Given the description of an element on the screen output the (x, y) to click on. 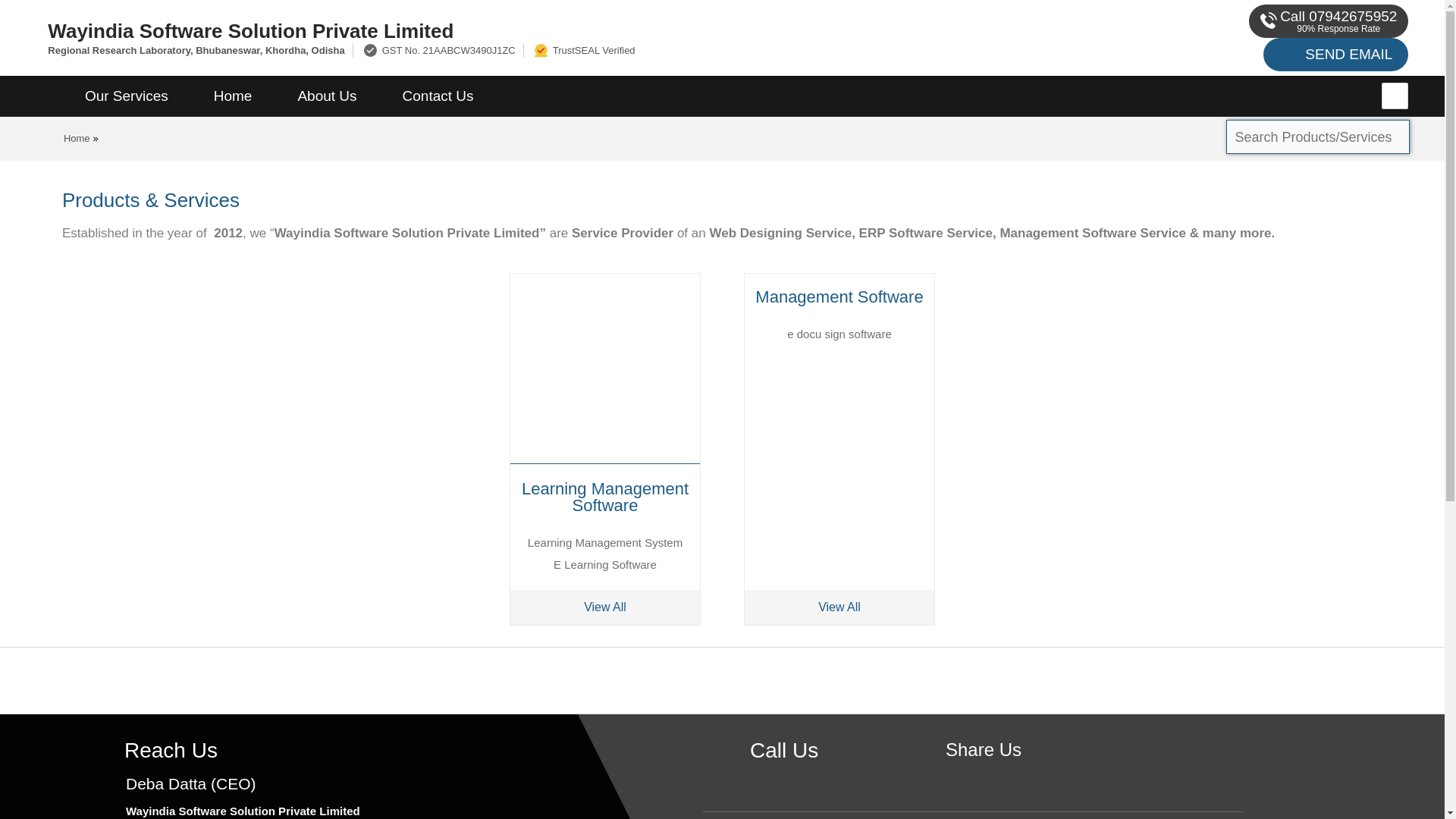
View All (839, 606)
E Learning Software (604, 563)
Wayindia Software Solution Private Limited (485, 31)
Learning Management System (604, 542)
Home (232, 96)
Management Software (839, 296)
About Us (326, 96)
Learning Management Software (605, 496)
View All (605, 606)
Facebook (983, 775)
Home (77, 138)
e docu sign software (839, 333)
Our Services (126, 96)
LinkedIn (1029, 775)
Contact Us (438, 96)
